Given the description of an element on the screen output the (x, y) to click on. 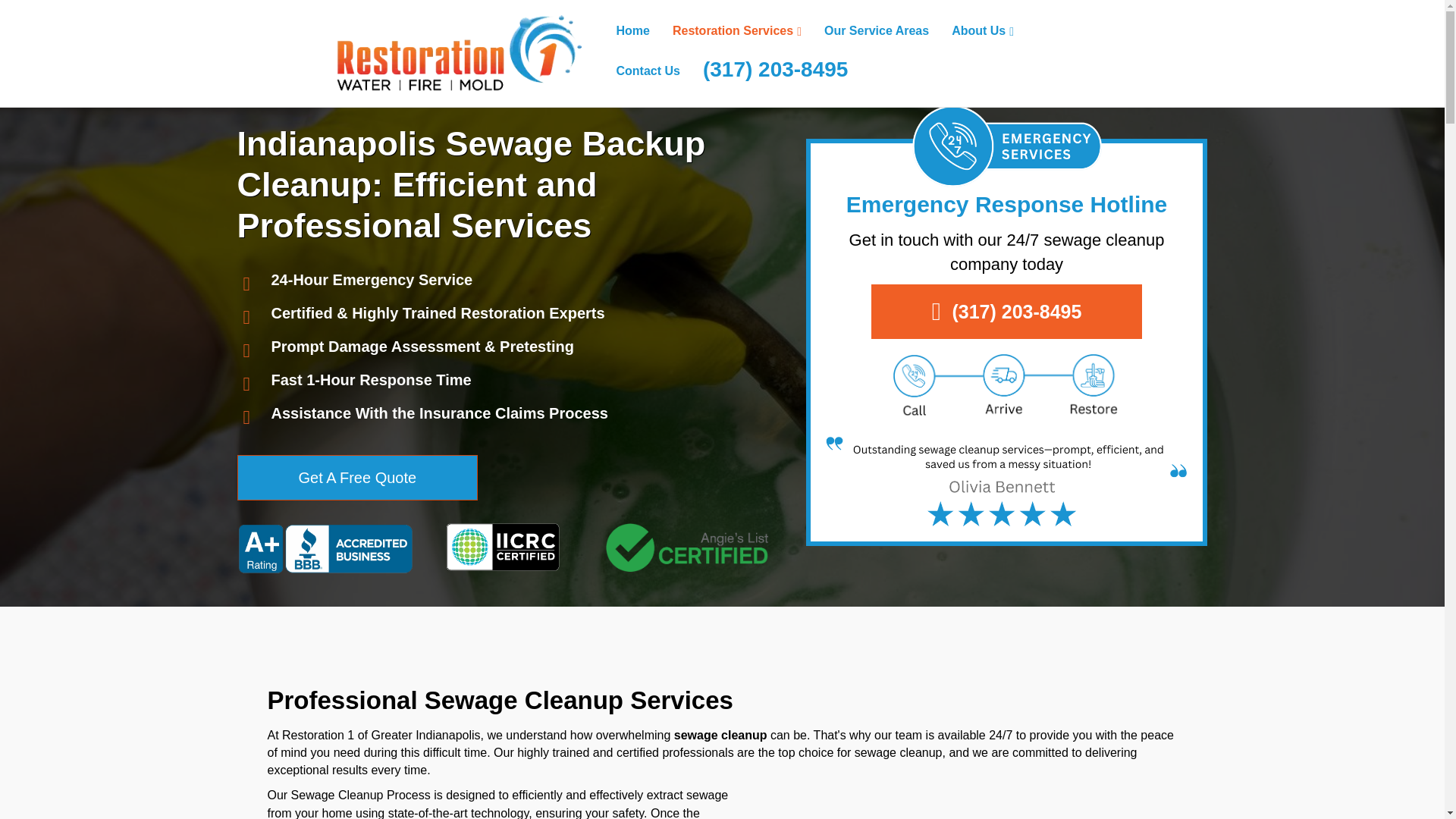
sewage-cleanup-testimonial (1006, 481)
3-steps (1007, 386)
iicrc (502, 546)
emergency-services (1007, 145)
Home (632, 30)
Restoration Services (736, 31)
YouTube video player (969, 802)
